Given the description of an element on the screen output the (x, y) to click on. 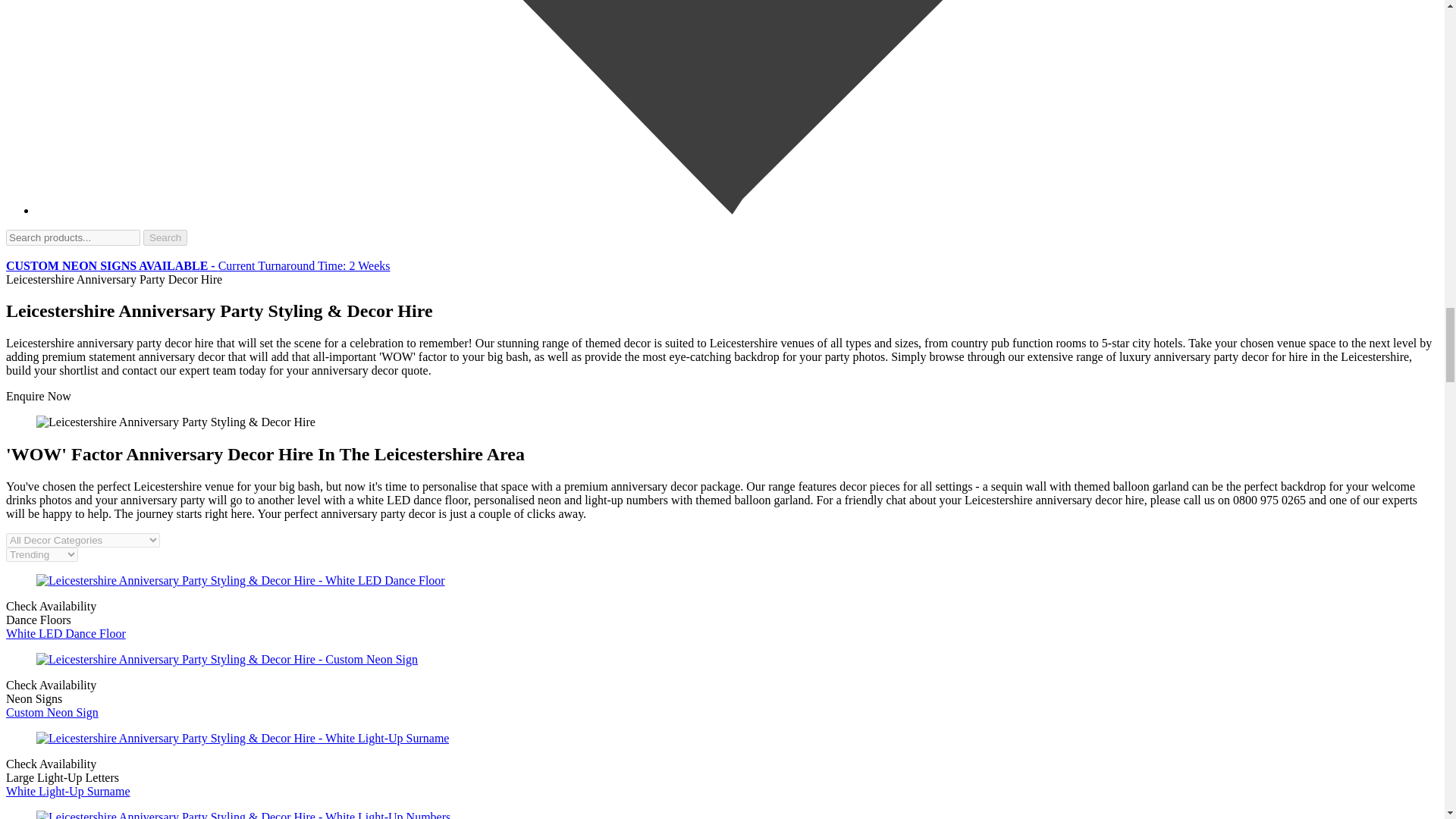
Search (164, 236)
Premium Custom Neon Signs (197, 265)
